Given the description of an element on the screen output the (x, y) to click on. 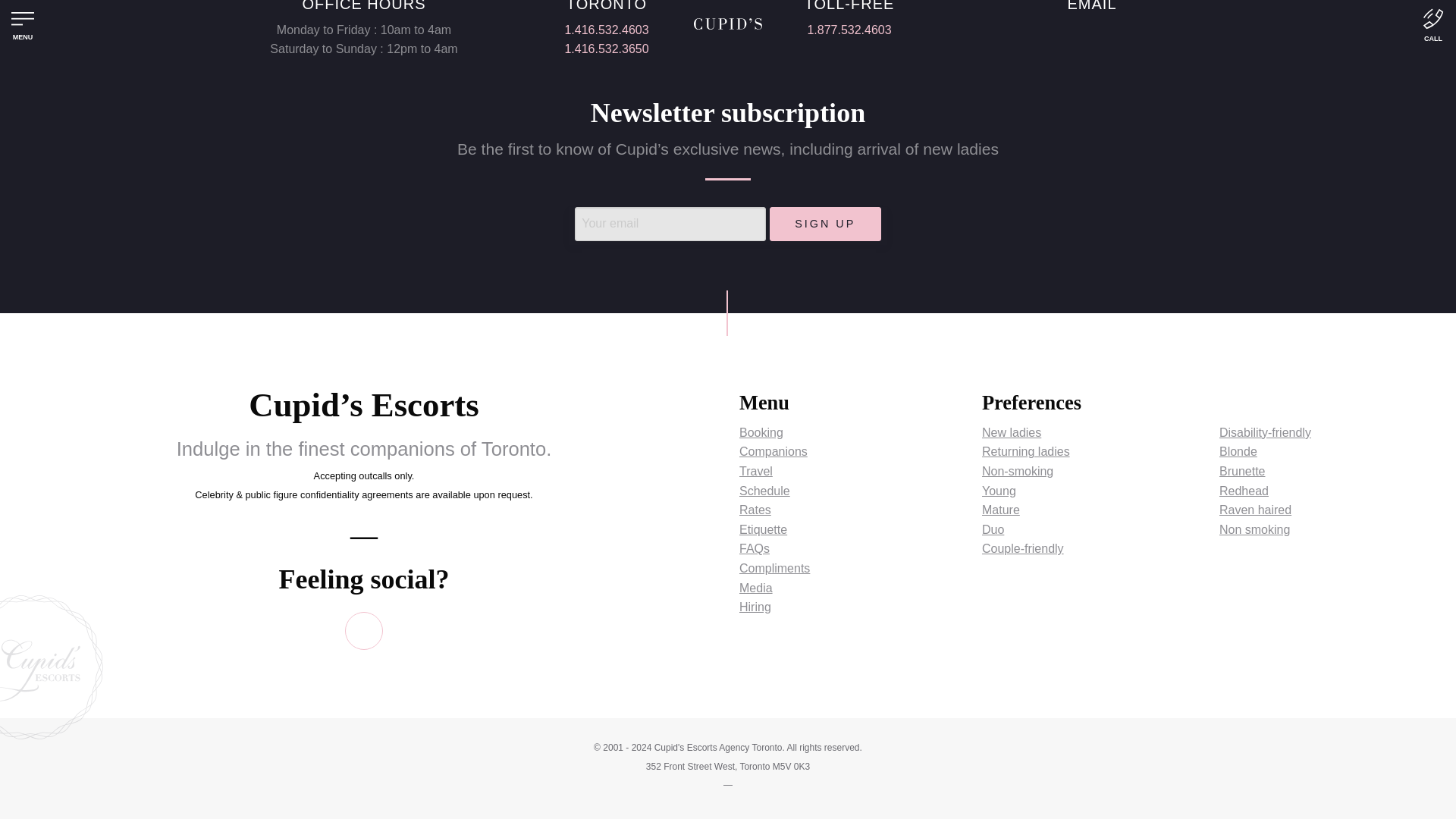
Etiquette (763, 529)
Returning Toronto escorts (1025, 451)
Young Toronto escorts (998, 490)
Twitter (363, 630)
Mature Toronto escorts (1000, 509)
Toronto disability-friendly escorts (1265, 431)
Returning ladies (1025, 451)
Travel (756, 471)
Redhead Toronto escorts (1244, 490)
Sign up (825, 223)
